Given the description of an element on the screen output the (x, y) to click on. 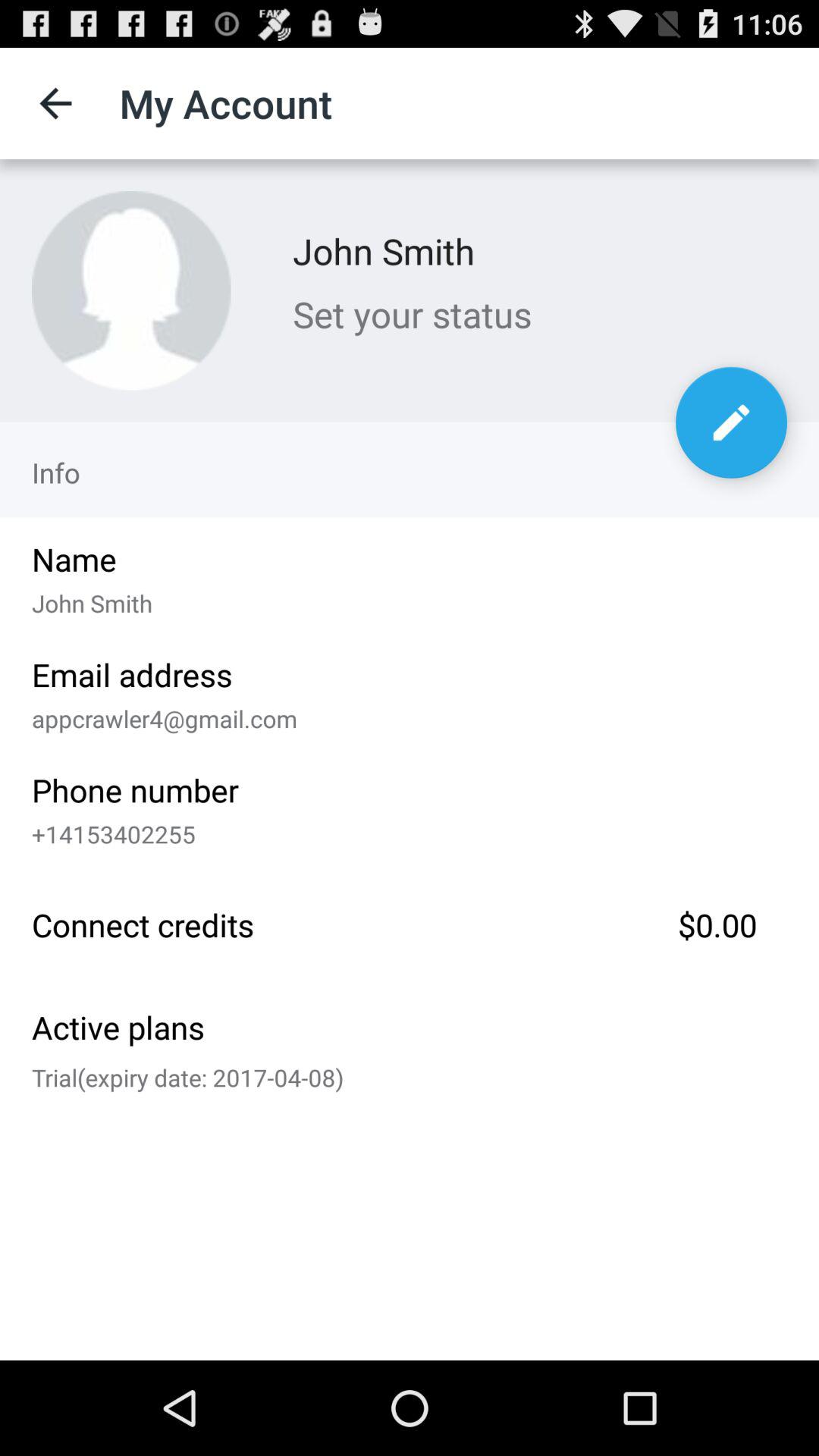
turn off the item below the john smith (539, 314)
